Given the description of an element on the screen output the (x, y) to click on. 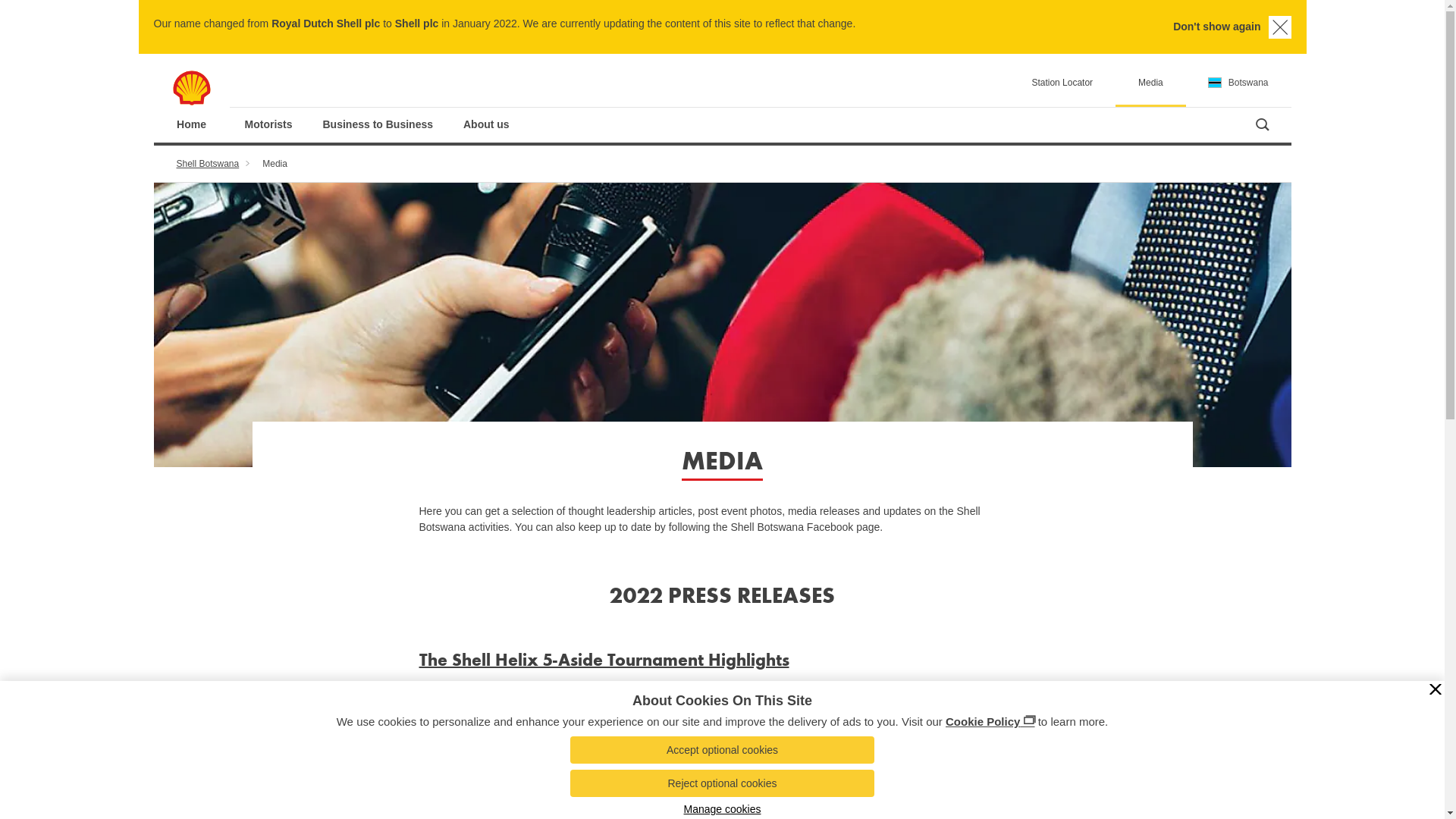
Media Element type: text (1150, 79)
About us Element type: text (486, 124)
The Shell Helix 5-Aside Tournament Highlights Element type: text (603, 659)
Home Element type: text (191, 124)
Business to Business Element type: text (377, 124)
Cookie Policy Element type: text (990, 721)
Don't show again Element type: text (1227, 26)
Reject optional cookies Element type: text (722, 783)
Botswana Element type: text (1238, 79)
Shell Botswana Element type: text (218, 163)
A look at our Journey Beyond Promotion Winners Element type: text (618, 760)
Motorists Element type: text (268, 124)
Station Locator Element type: text (1061, 79)
Accept optional cookies Element type: text (722, 749)
